Given the description of an element on the screen output the (x, y) to click on. 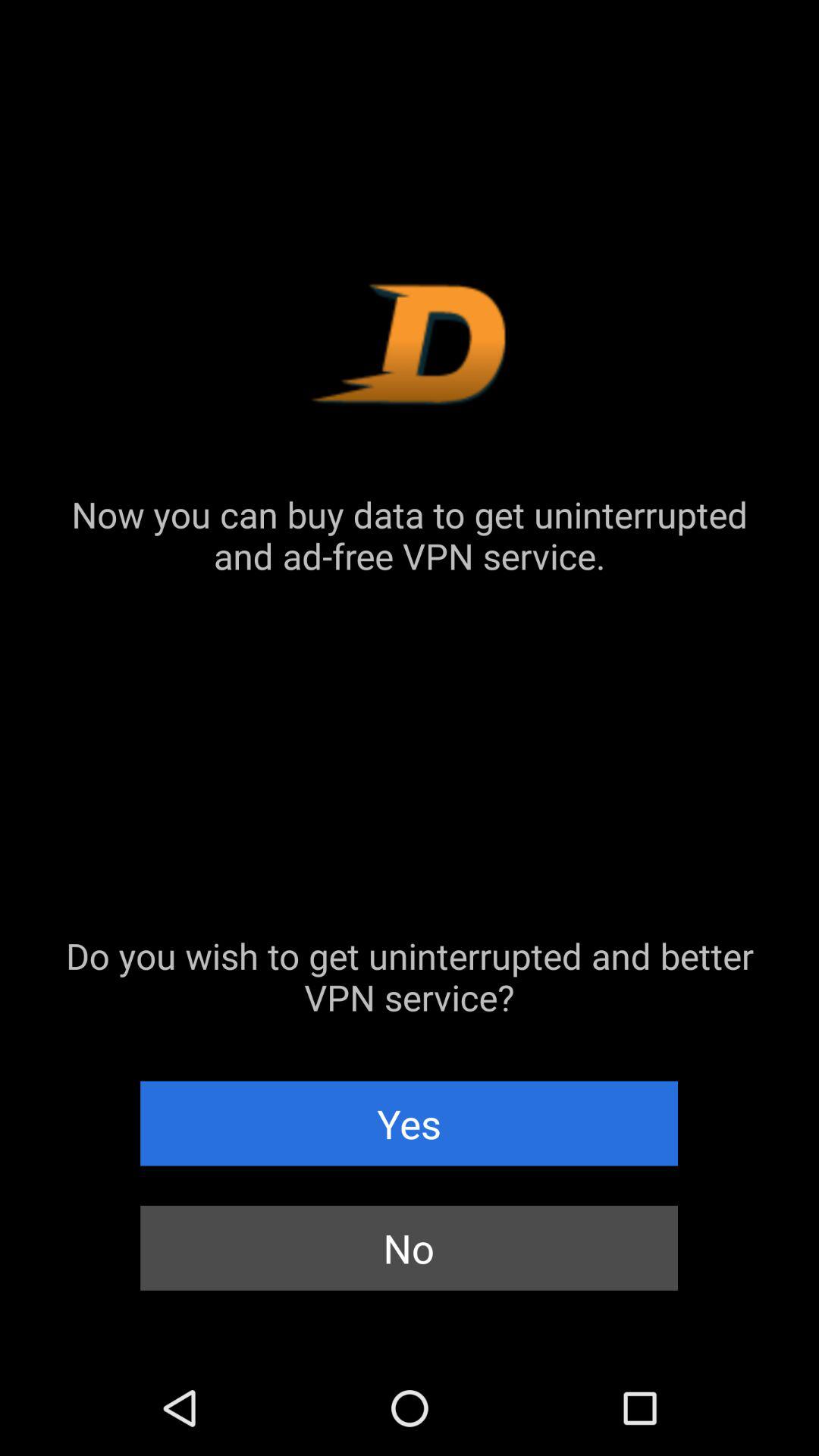
open the item above no item (408, 1123)
